Given the description of an element on the screen output the (x, y) to click on. 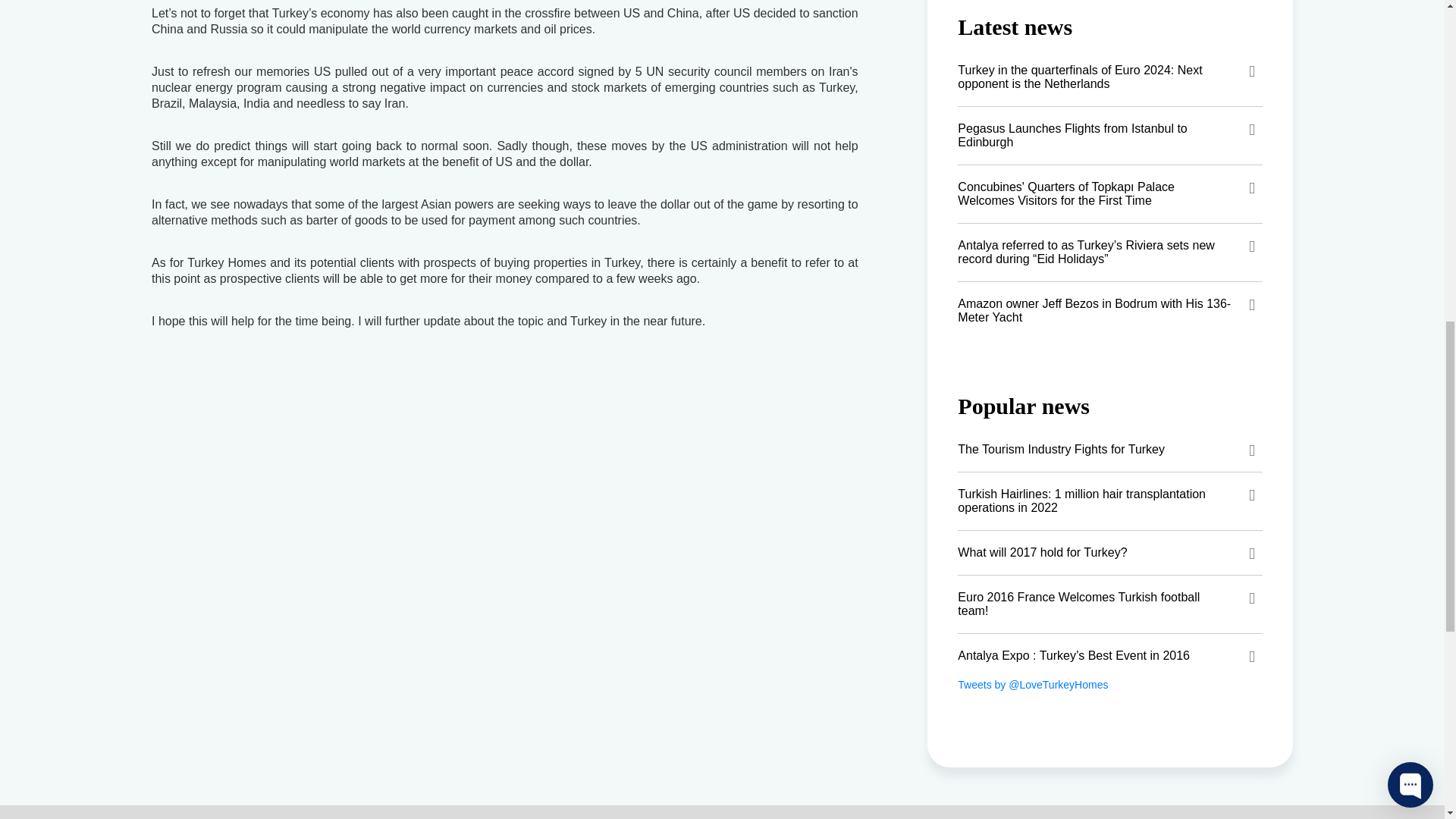
euro-2016-france-welcomes-turkish-football-team (1110, 604)
pegasus-launches-flights-from-istanbul-to-edinburgh (1110, 135)
amazon-owner-jeff-bezos-in-bodrum-with-his-136-meter-yacht (1110, 310)
the-tourism-industry-fights-for-turkey (1110, 449)
antalya-expo-turkey-s-best-event-in-2016 (1110, 655)
turkey-in-2017 (1110, 552)
